Given the description of an element on the screen output the (x, y) to click on. 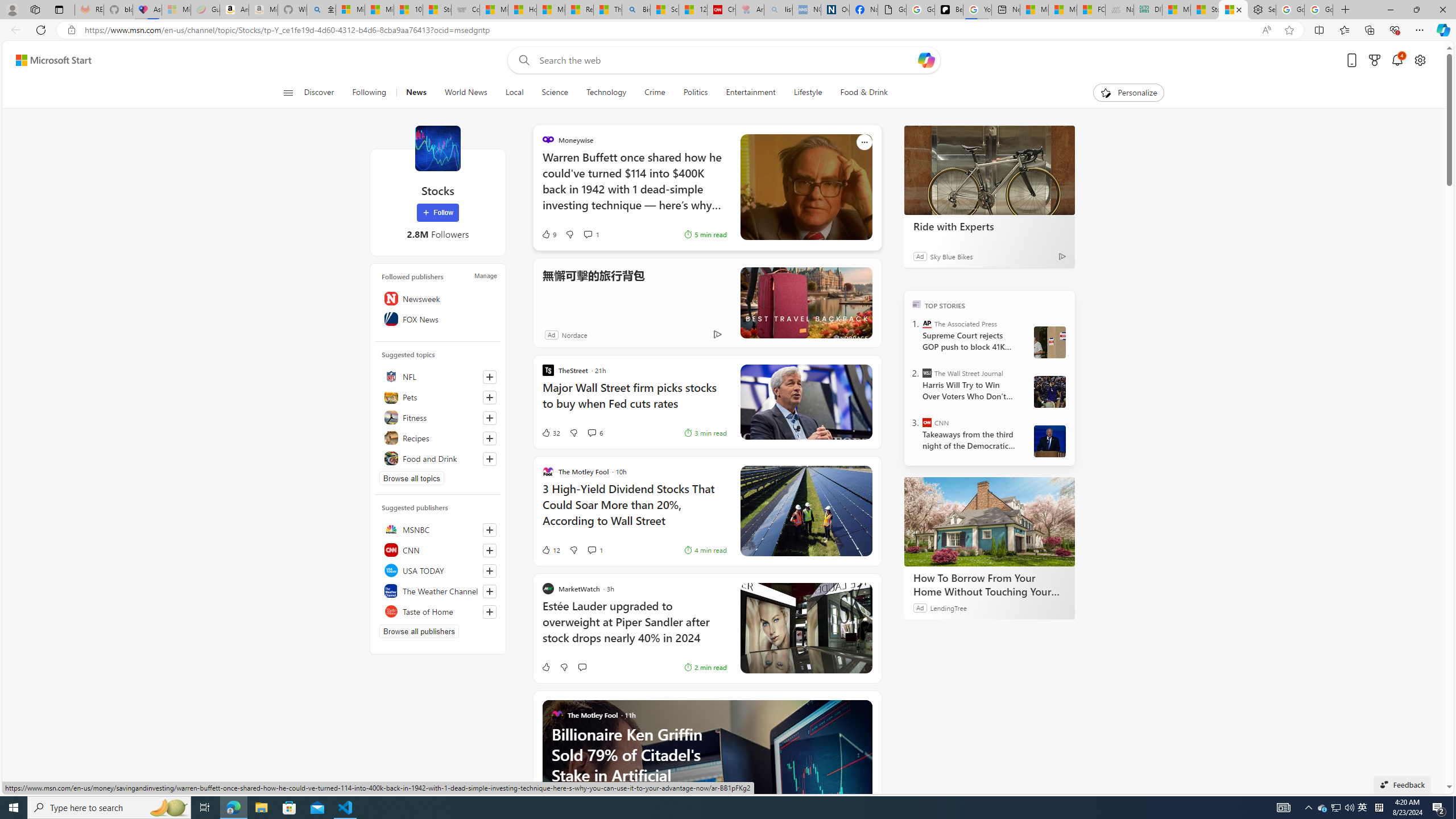
View comments 1 Comment (594, 549)
Crime (655, 92)
Manage (485, 275)
Google Analytics Opt-out Browser Add-on Download Page (892, 9)
12 Popular Science Lies that Must be Corrected (692, 9)
Follow this source (489, 611)
The Associated Press (927, 323)
